Given the description of an element on the screen output the (x, y) to click on. 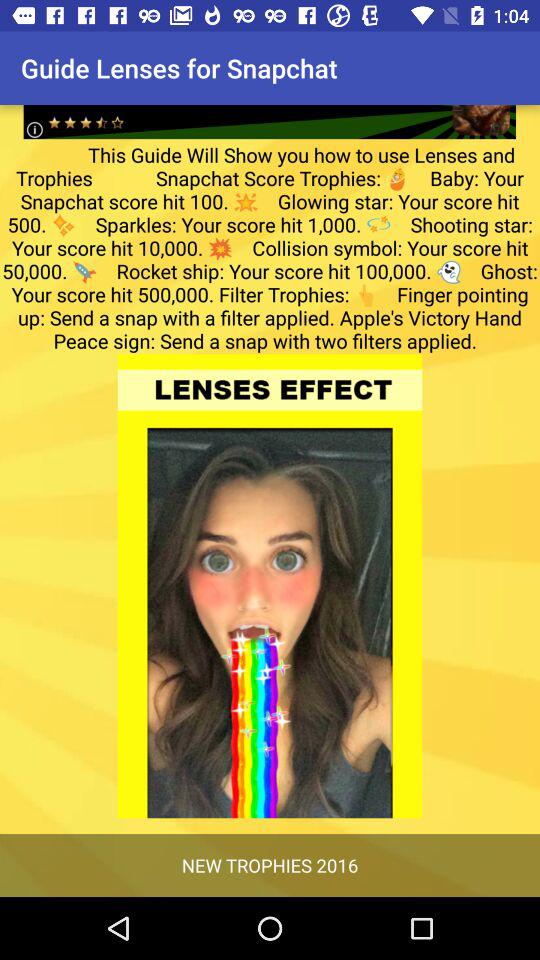
open advertisement (269, 106)
